Given the description of an element on the screen output the (x, y) to click on. 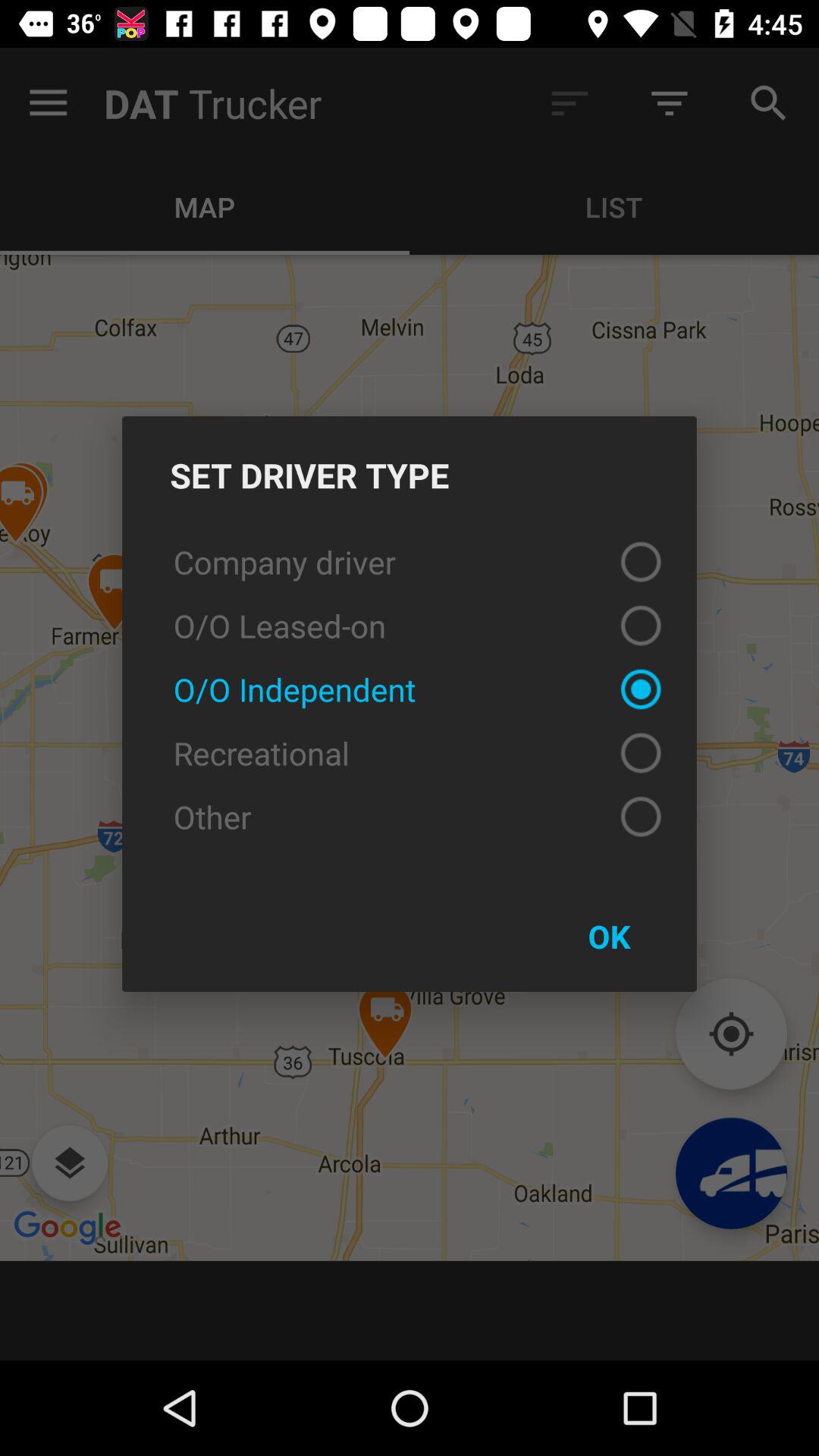
select item below the o/o independent (409, 752)
